Given the description of an element on the screen output the (x, y) to click on. 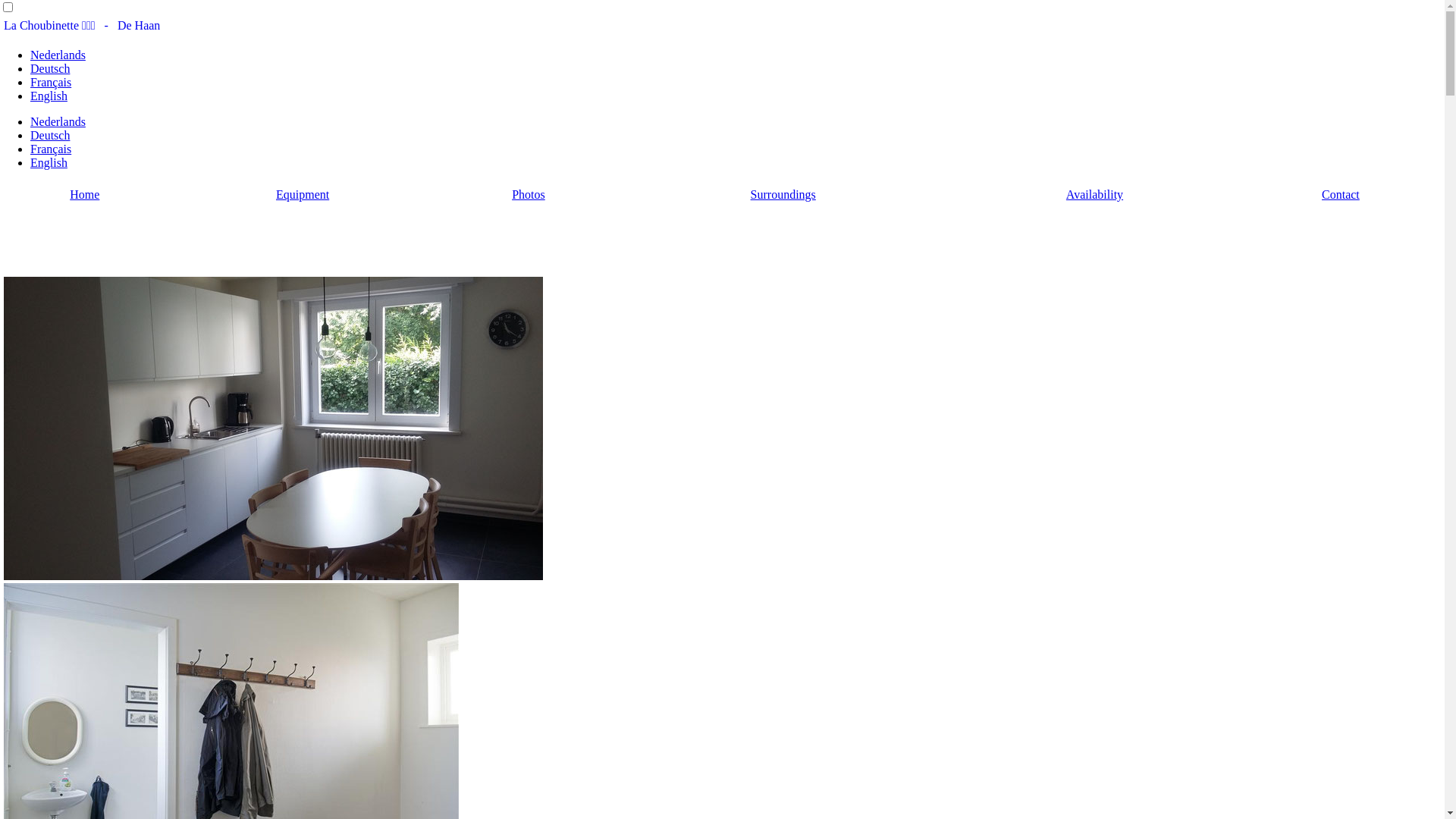
Nederlands Element type: text (57, 54)
Photos Element type: text (528, 194)
Equipment Element type: text (302, 194)
Surroundings Element type: text (782, 194)
English Element type: text (48, 162)
Nederlands Element type: text (57, 121)
English Element type: text (48, 95)
Contact Element type: text (1340, 194)
Home Element type: text (84, 194)
Deutsch Element type: text (49, 134)
Availability Element type: text (1094, 194)
Deutsch Element type: text (49, 68)
